Given the description of an element on the screen output the (x, y) to click on. 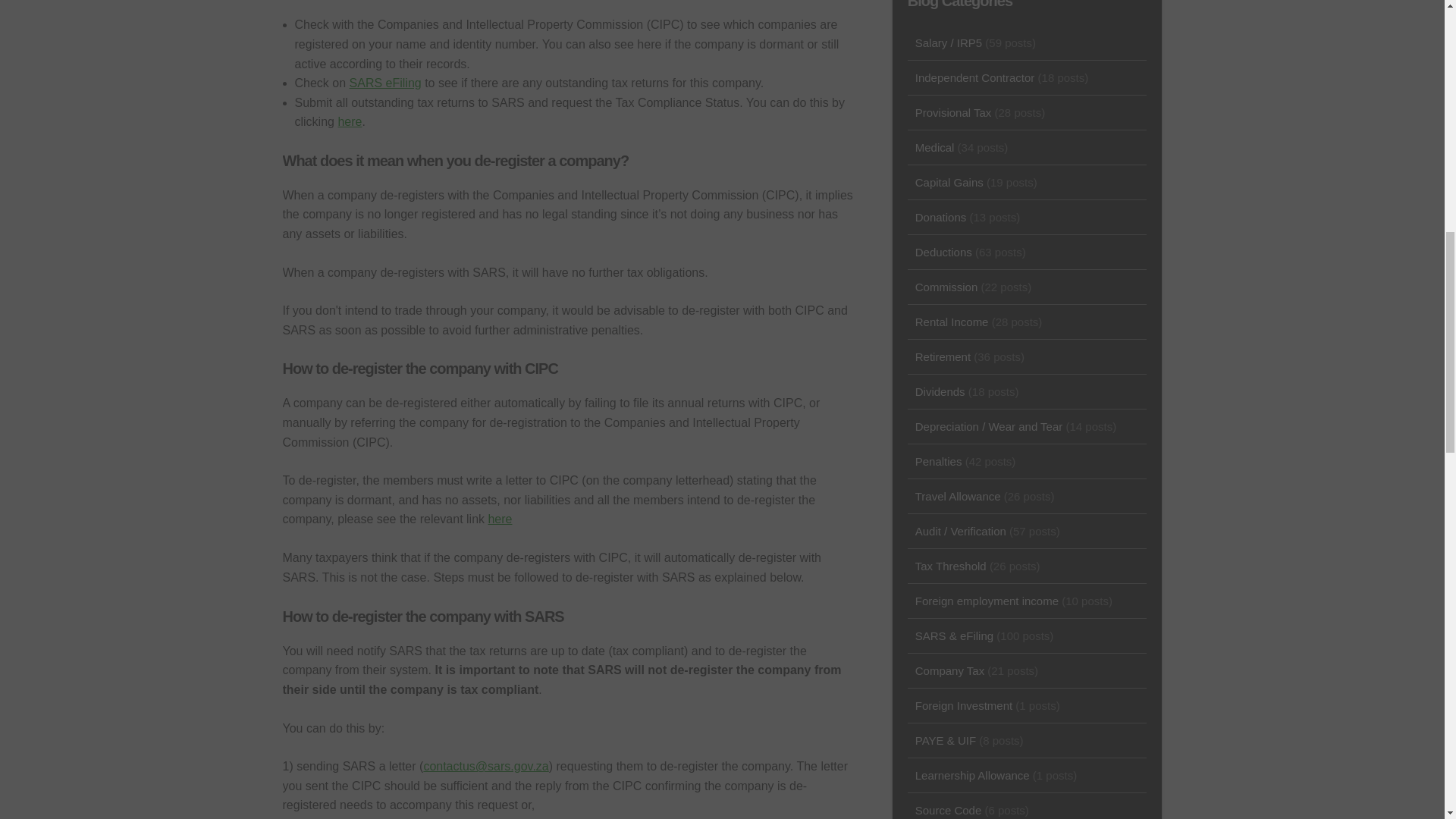
Click for definition (385, 82)
